Given the description of an element on the screen output the (x, y) to click on. 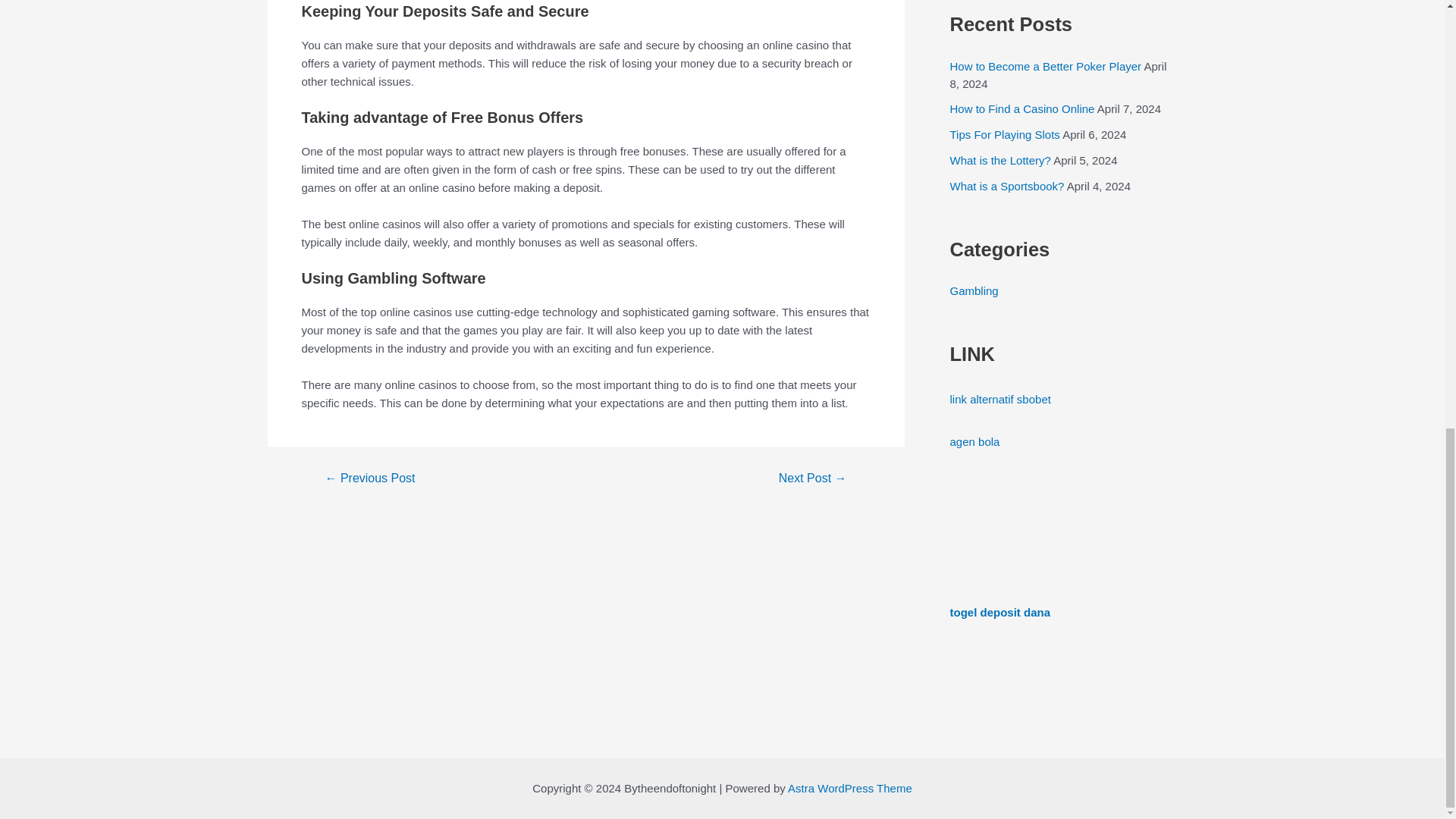
How to Become a Better Poker Player (1045, 65)
How to Find a Casino Online (1021, 108)
What is a Sportsbook? (1006, 185)
Tips For Playing Slots (1004, 133)
What is the Lottery? (999, 160)
